Given the description of an element on the screen output the (x, y) to click on. 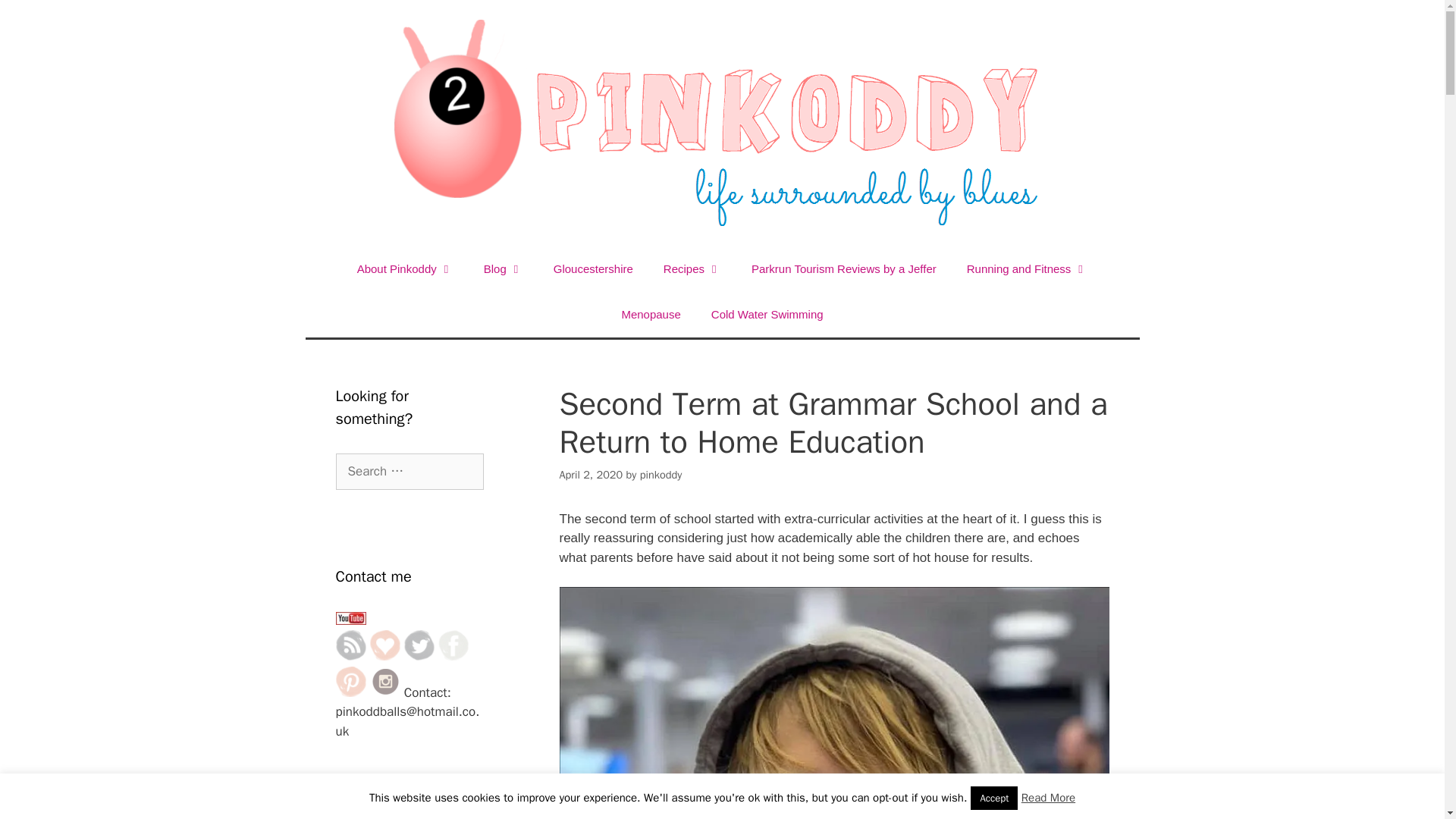
Search for: (408, 471)
Cold Water Swimming (766, 314)
About Pinkoddy (405, 268)
Recipes (691, 268)
Blog (503, 268)
pinkoddy (661, 474)
Running and Fitness (1027, 268)
View all posts by pinkoddy (661, 474)
Parkrun Tourism Reviews by a Jeffer (844, 268)
Menopause (650, 314)
Gloucestershire (592, 268)
